Given the description of an element on the screen output the (x, y) to click on. 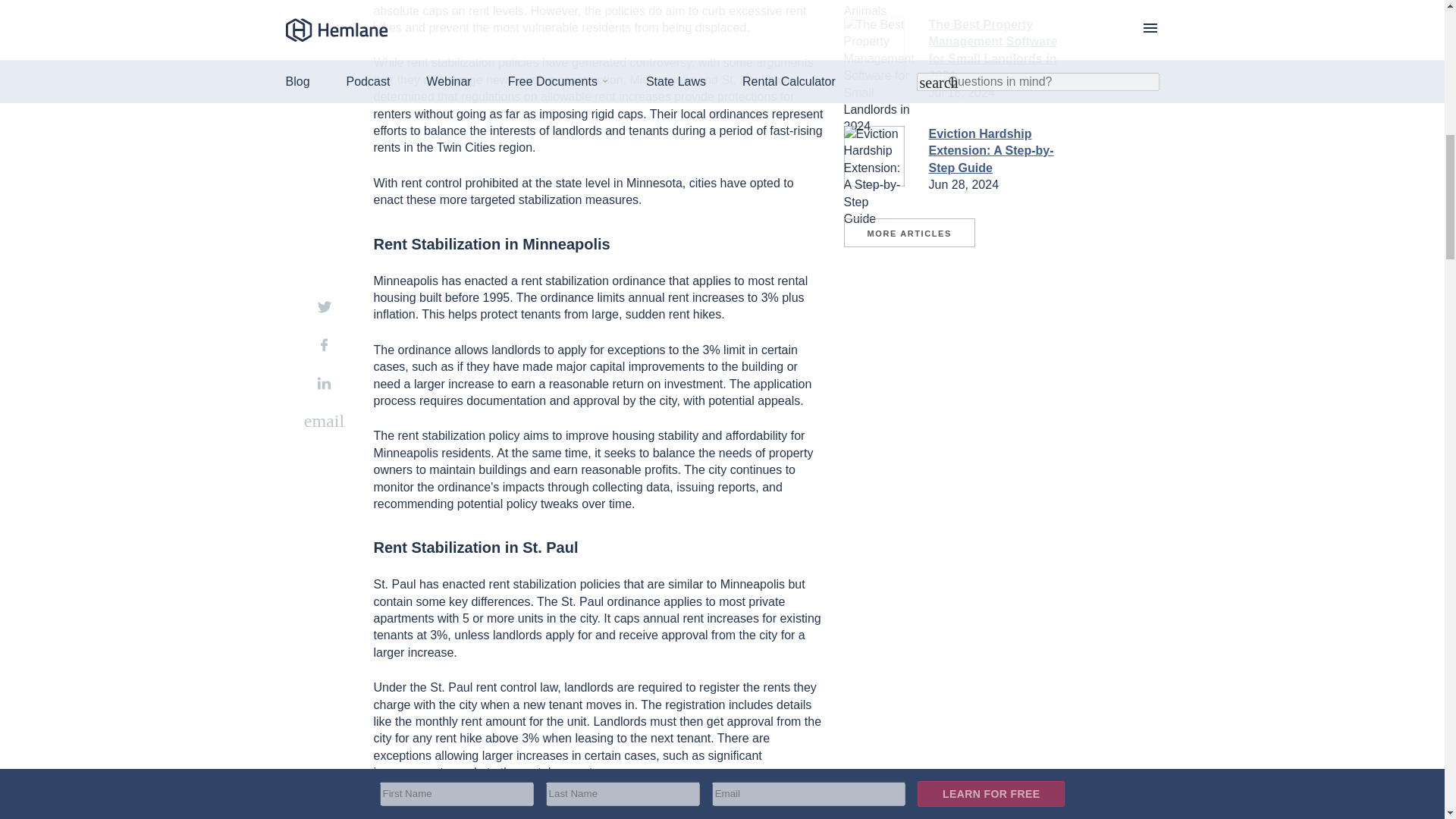
Eviction Hardship Extension: A Step-by-Step Guide (990, 150)
MORE ARTICLES (908, 232)
